Given the description of an element on the screen output the (x, y) to click on. 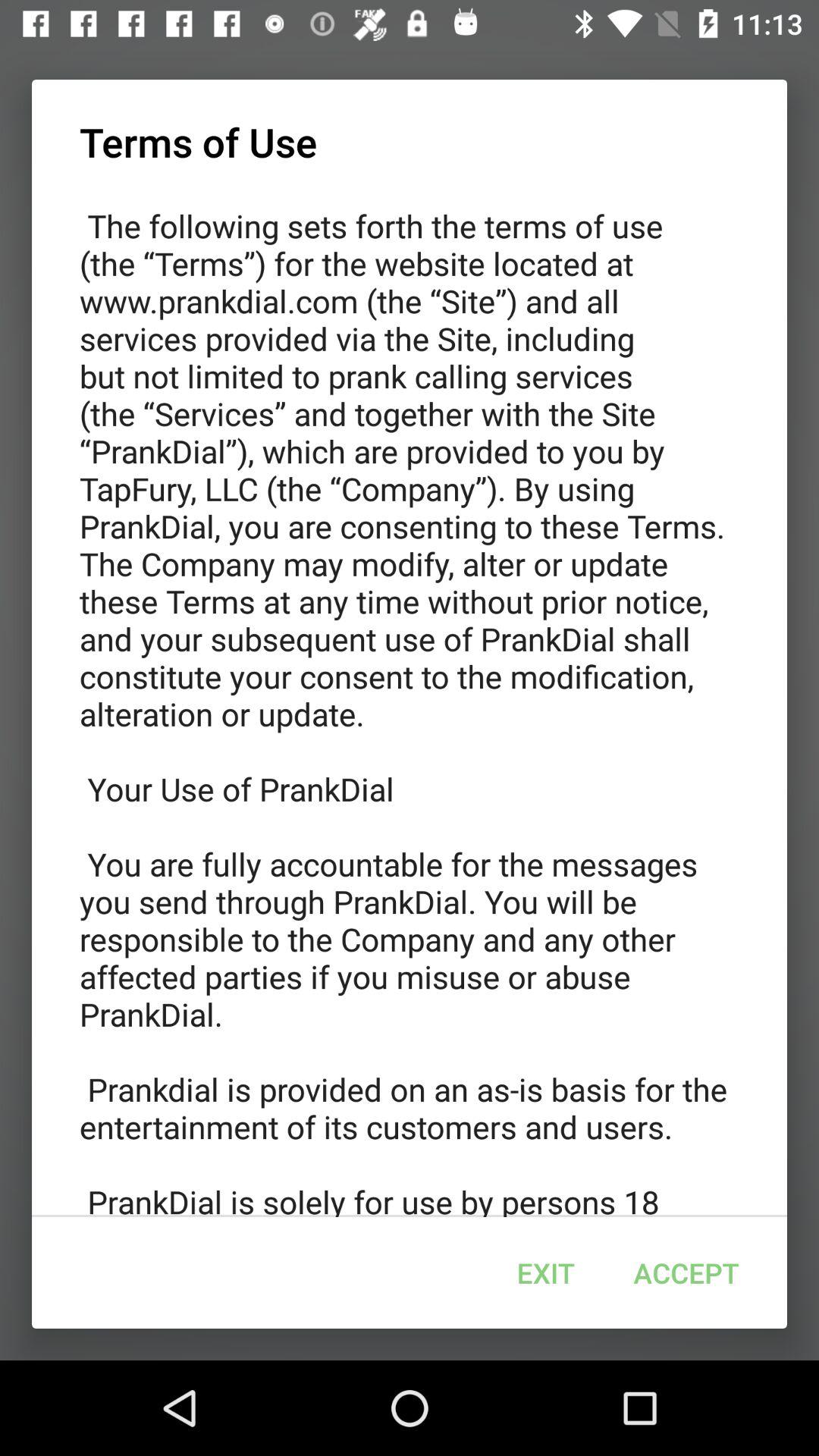
turn on icon below the the following sets (545, 1272)
